Given the description of an element on the screen output the (x, y) to click on. 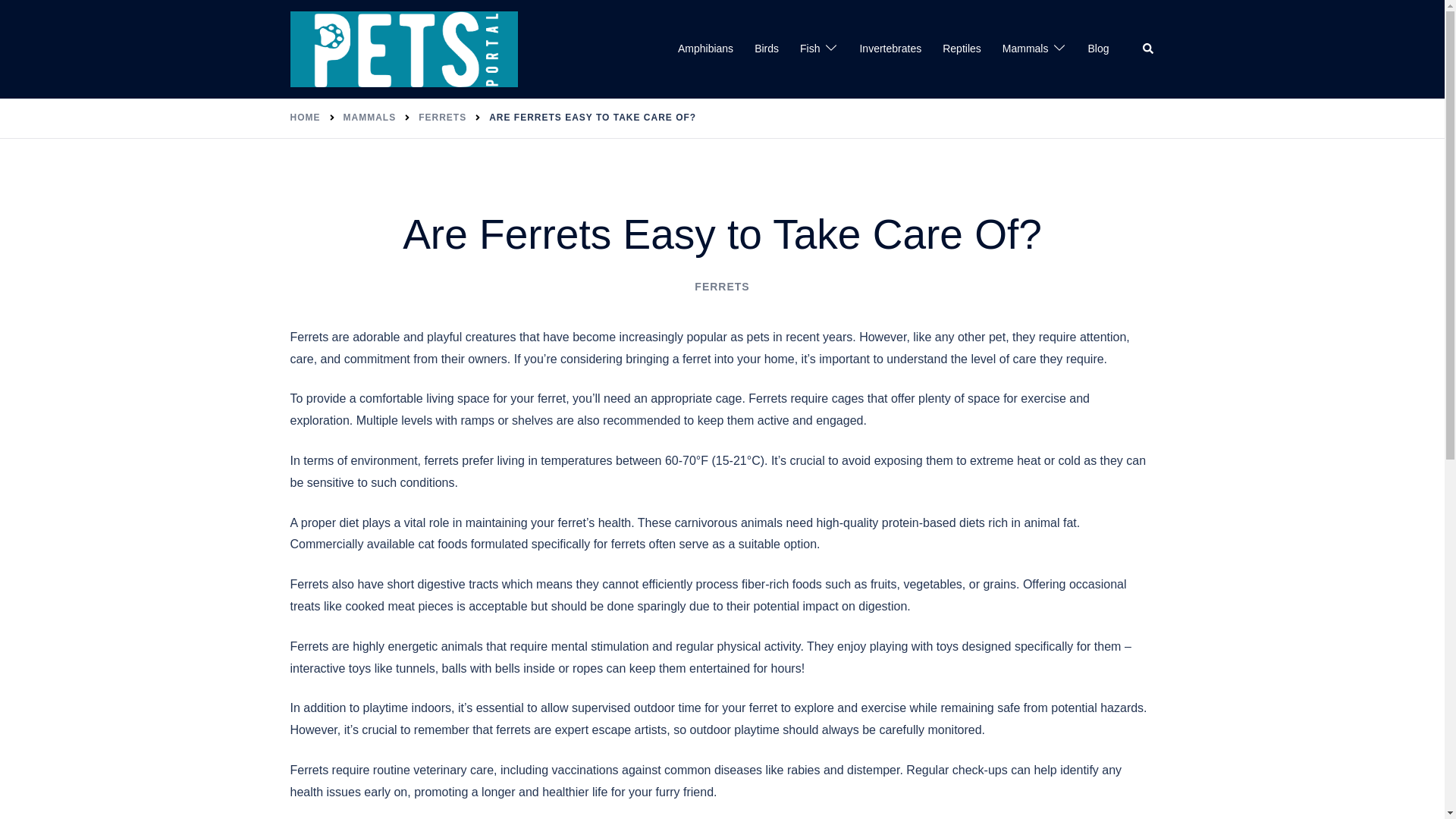
Invertebrates (890, 48)
Birds (766, 48)
Search (1147, 49)
ThePetsPortal.com (402, 47)
Mammals (1025, 48)
Reptiles (961, 48)
Blog (1097, 48)
Fish (809, 48)
Amphibians (705, 48)
